Given the description of an element on the screen output the (x, y) to click on. 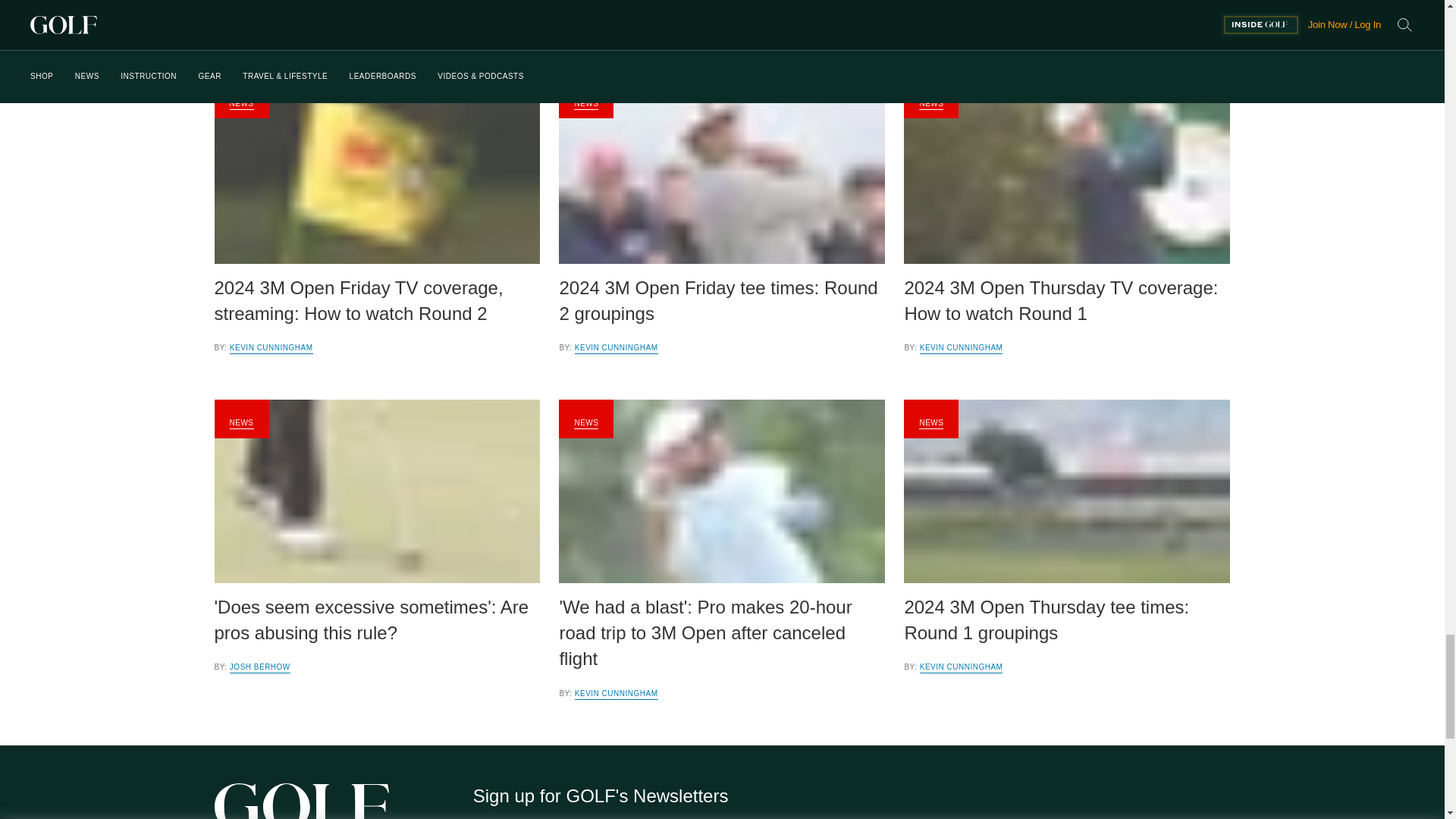
Golf logo. Back to home. (301, 800)
